Given the description of an element on the screen output the (x, y) to click on. 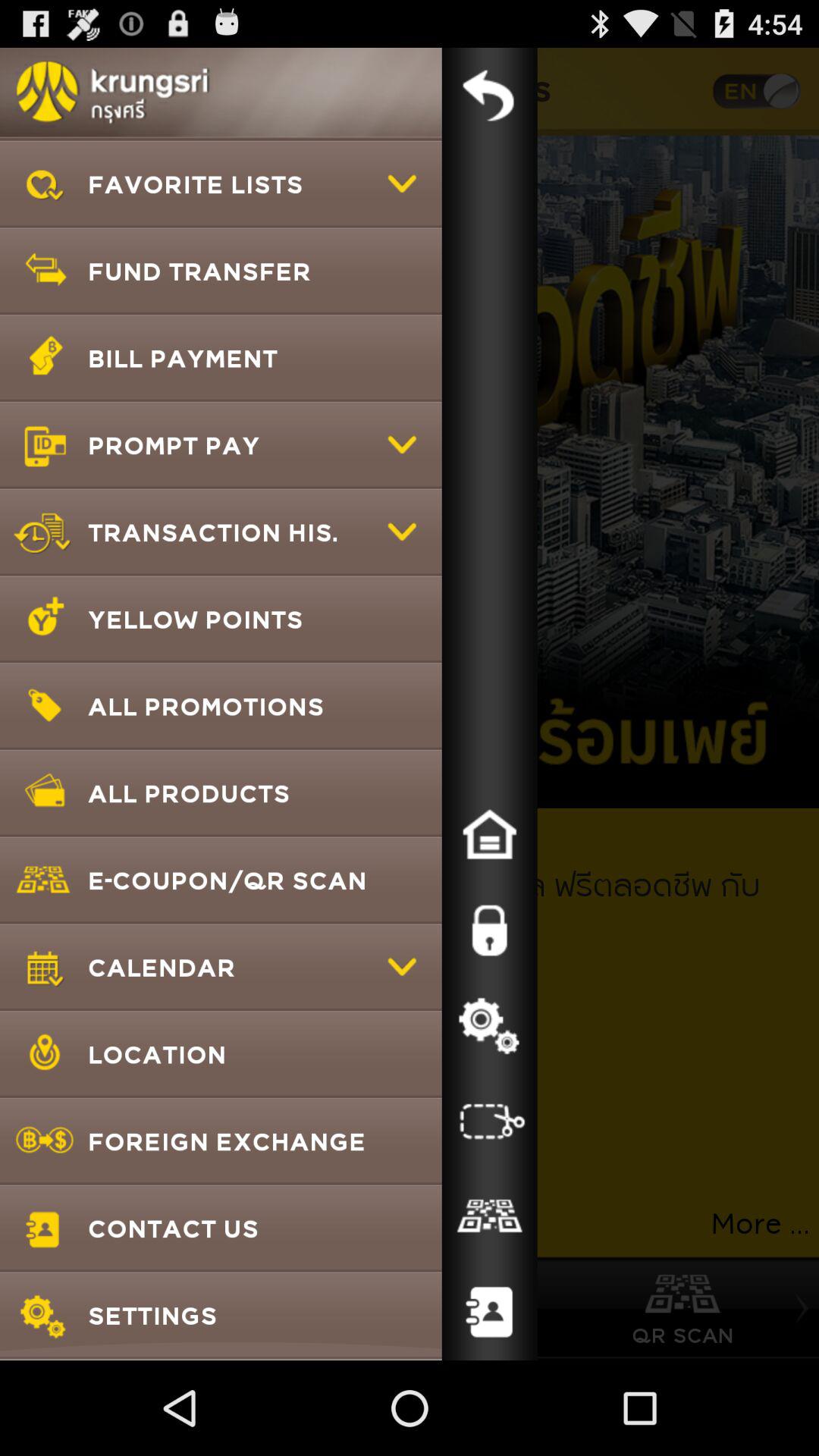
open contacts (489, 1312)
